Given the description of an element on the screen output the (x, y) to click on. 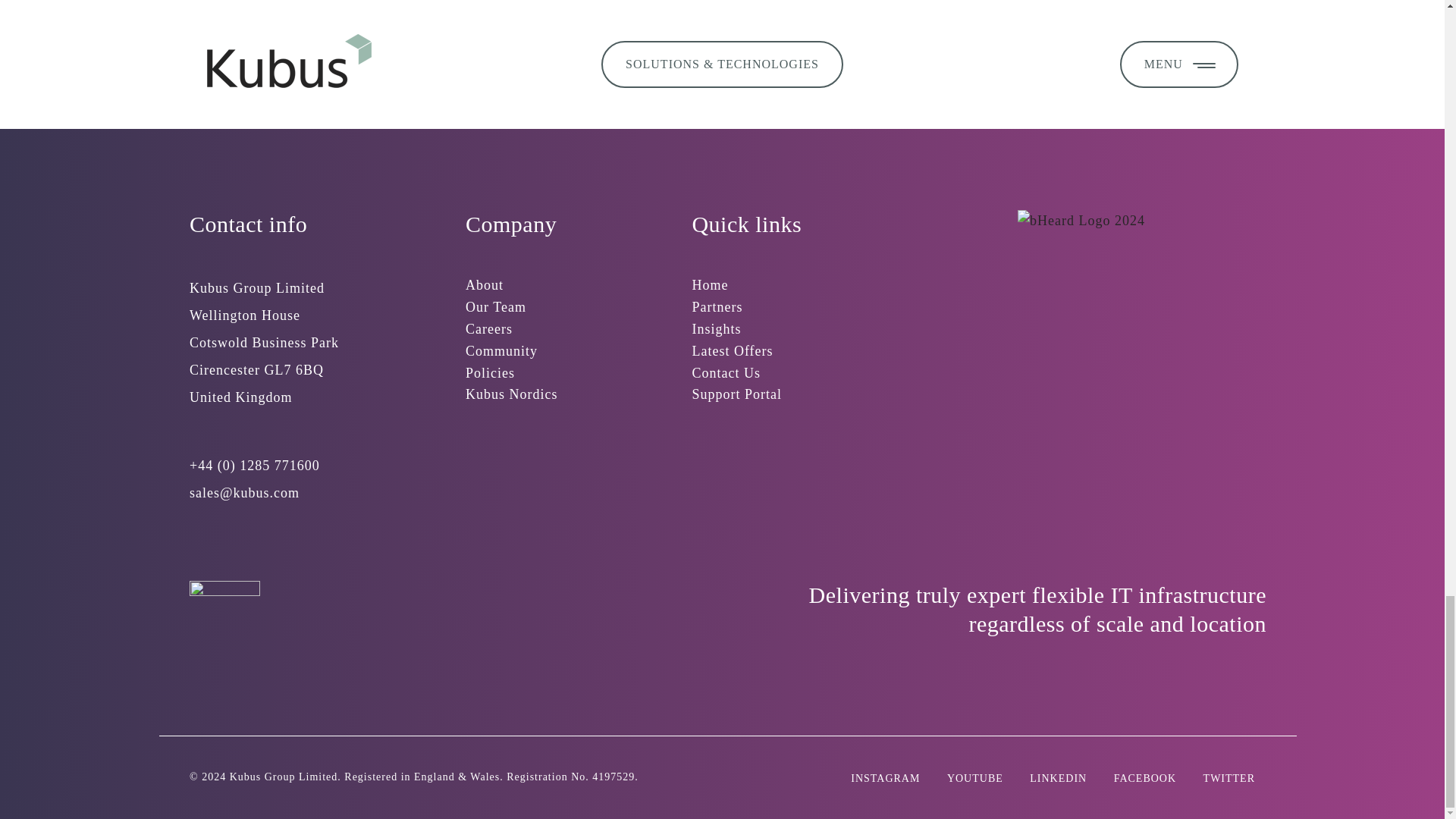
Subscribe (1083, 2)
